Given the description of an element on the screen output the (x, y) to click on. 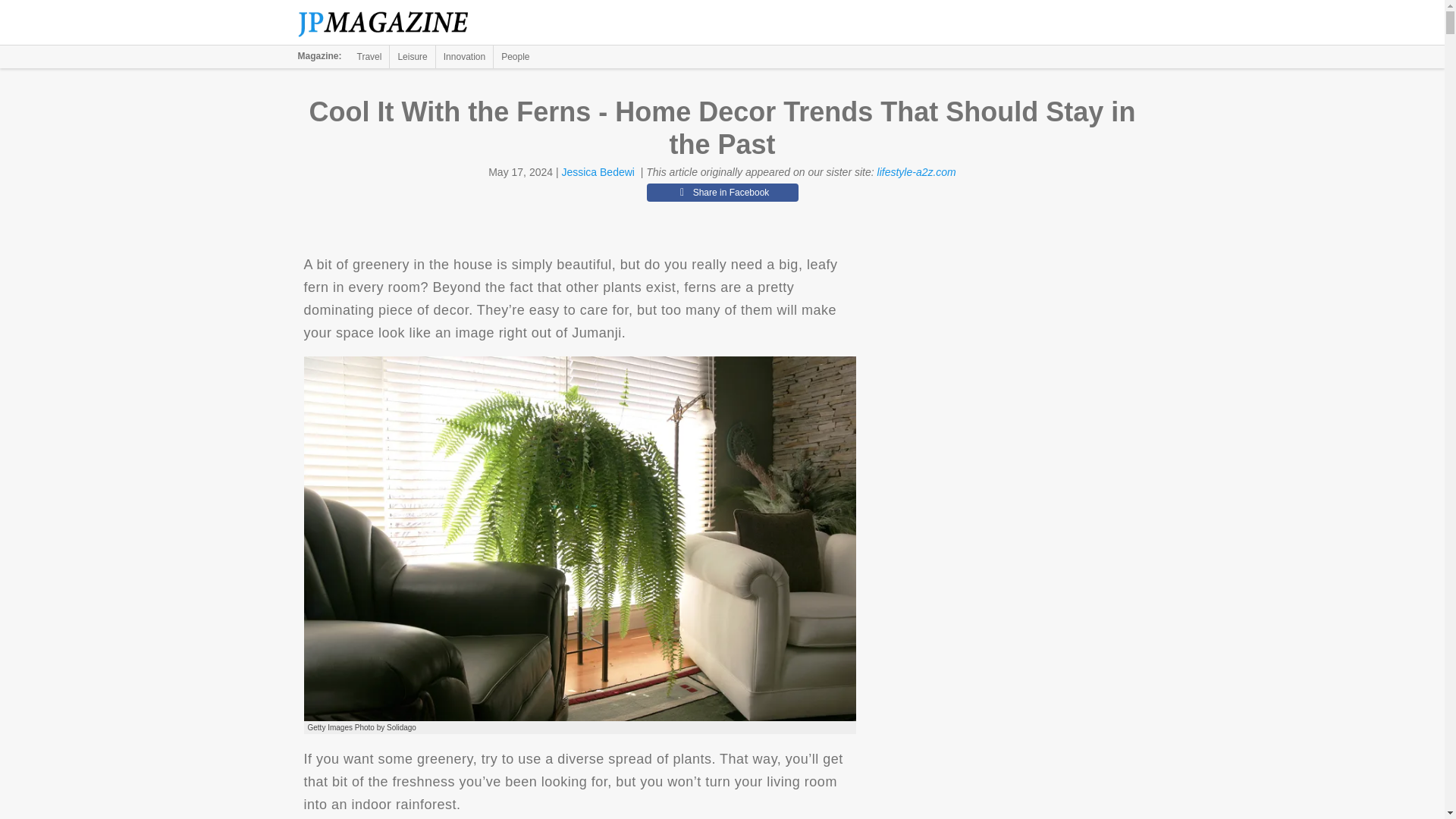
The Jerusalem Post Magazine (391, 22)
People (515, 56)
lifestyle-a2z.com (916, 172)
Jessica Bedewi (597, 172)
Leisure (411, 56)
Travel (369, 56)
Innovation (464, 56)
Share in Facebook (721, 192)
